Given the description of an element on the screen output the (x, y) to click on. 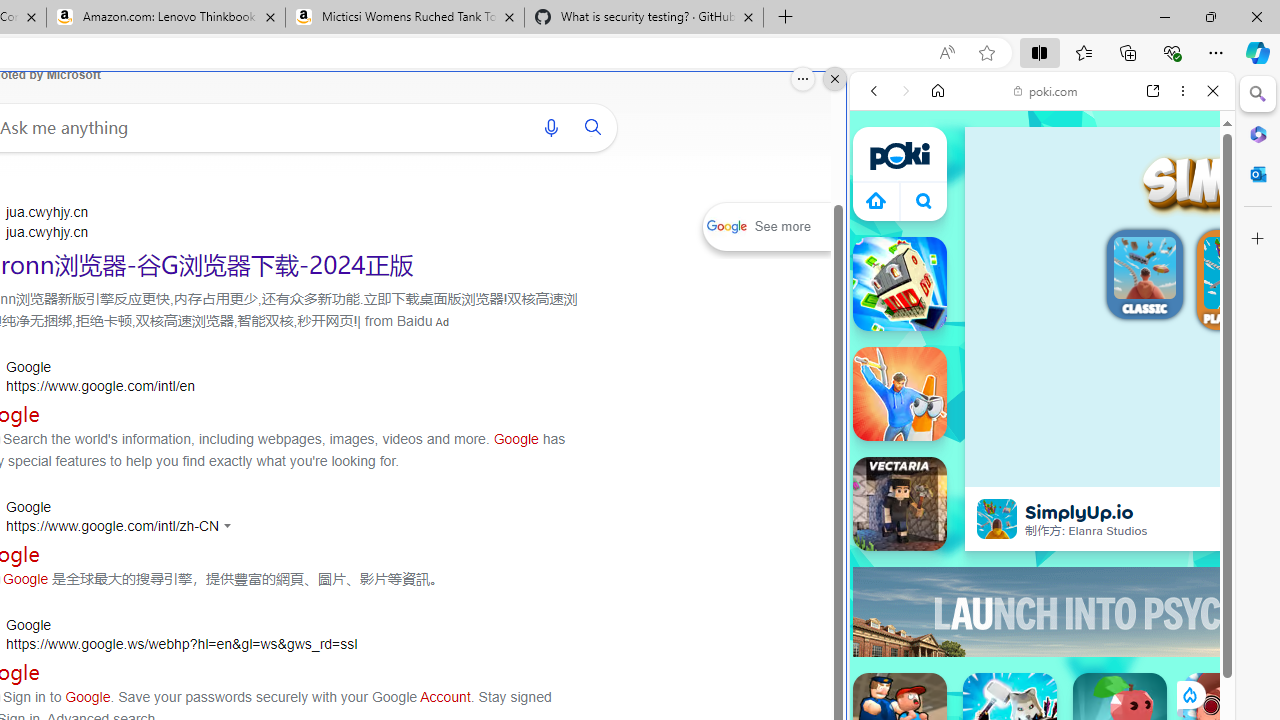
CLASSIC (1144, 277)
Two Player Games (1042, 567)
Car Games (1042, 470)
Show More Io Games (1164, 619)
